Given the description of an element on the screen output the (x, y) to click on. 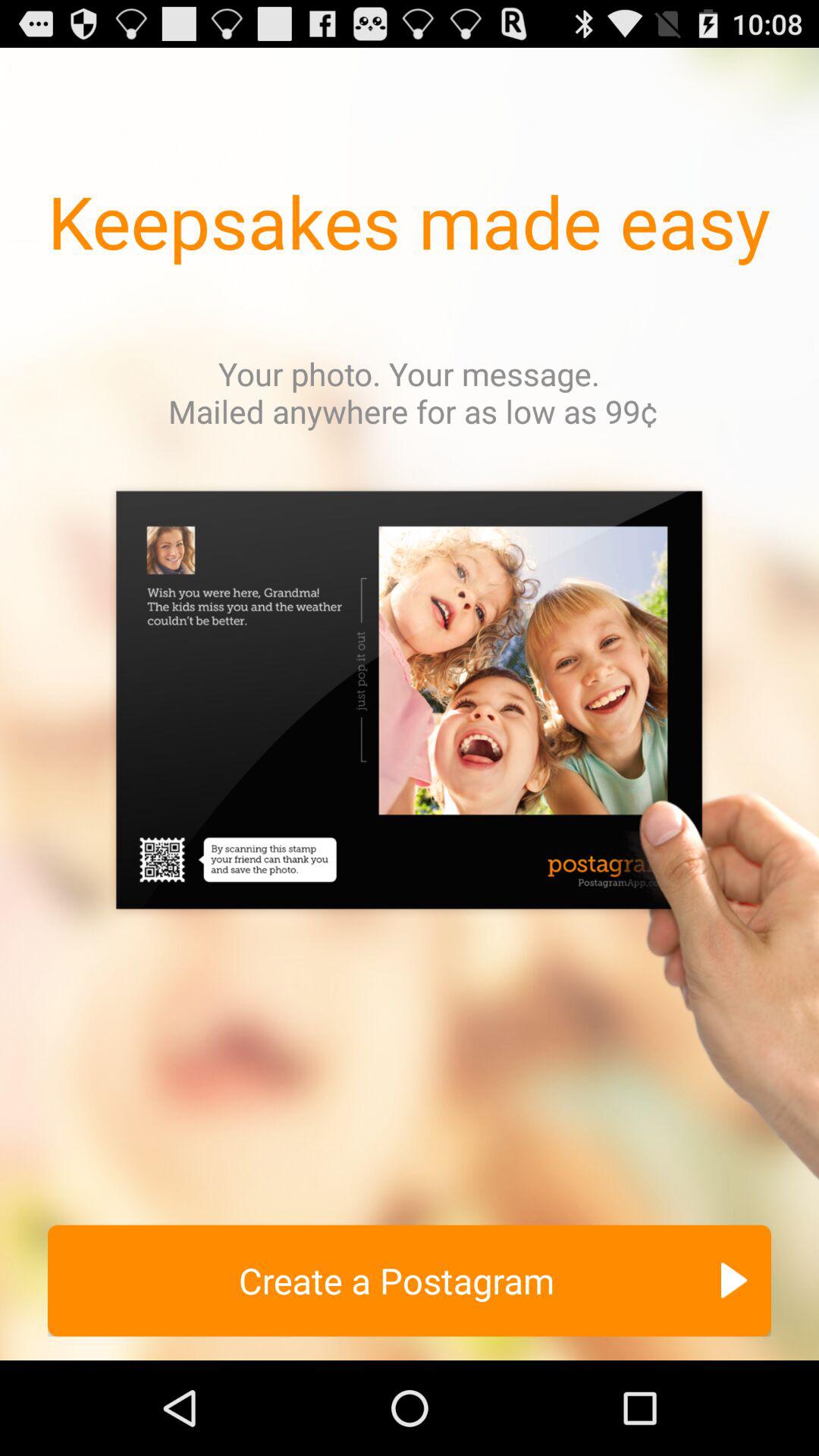
display screen (409, 840)
